Given the description of an element on the screen output the (x, y) to click on. 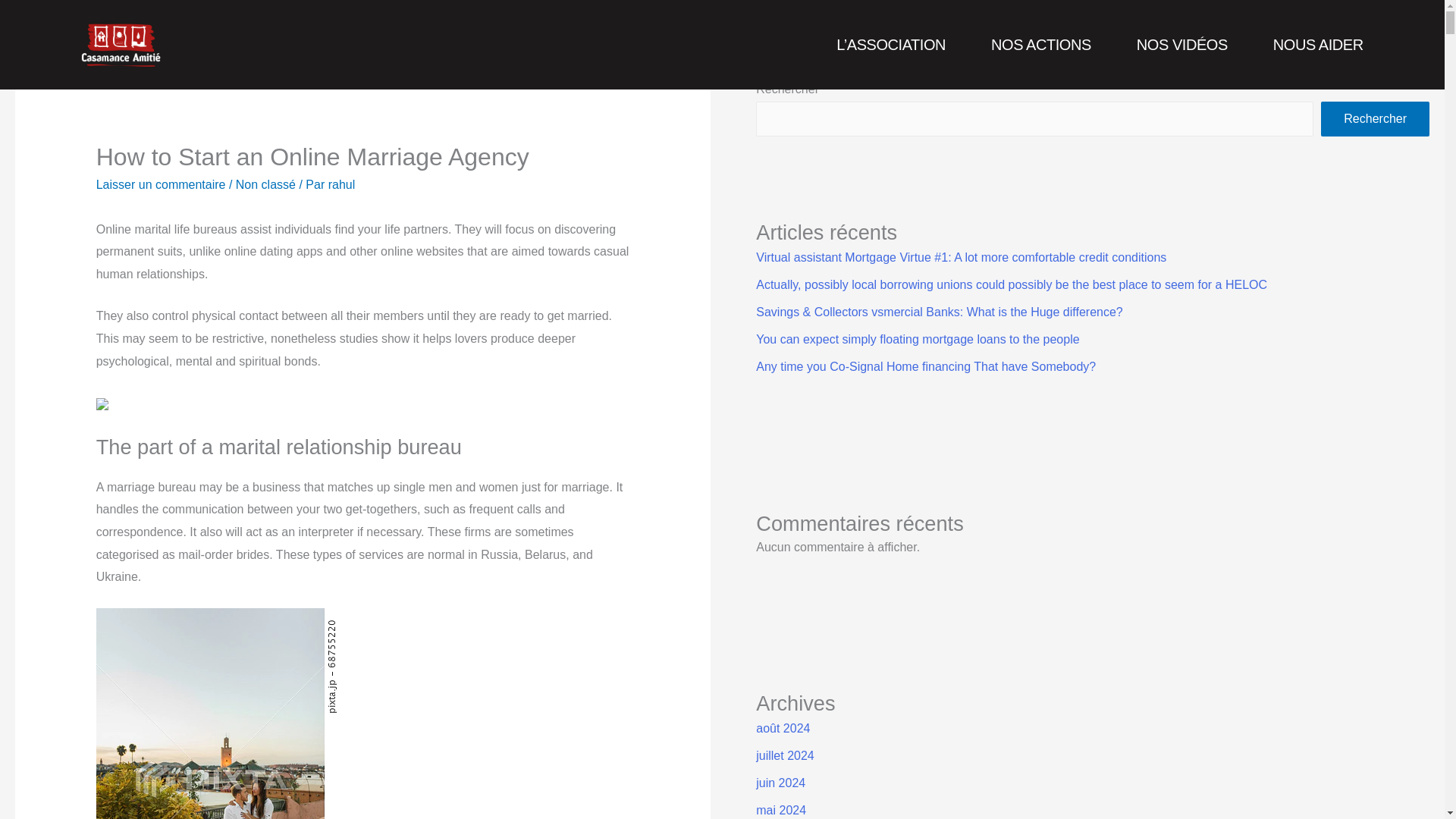
Laisser un commentaire (160, 184)
mai 2024 (780, 809)
NOUS AIDER (1318, 44)
Any time you Co-Signal Home financing That have Somebody? (925, 366)
Rechercher (1374, 118)
juin 2024 (780, 782)
rahul (342, 184)
You can expect simply floating mortgage loans to the people (916, 338)
NOS ACTIONS (1041, 44)
